Given the description of an element on the screen output the (x, y) to click on. 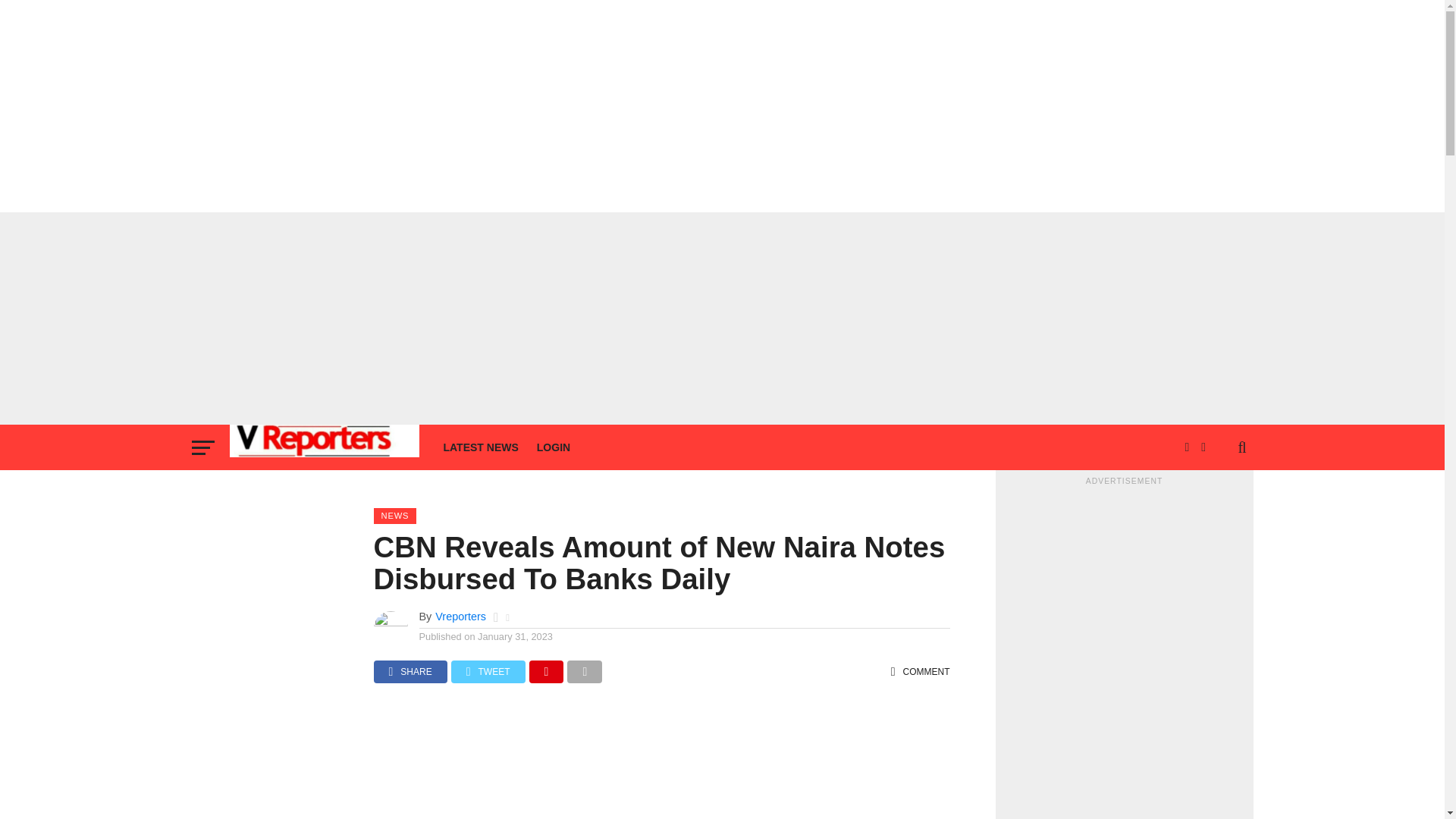
LOGIN (553, 447)
Advertisement (660, 766)
Posts by Vreporters (460, 616)
Vreporters (460, 616)
LATEST NEWS (480, 447)
